Given the description of an element on the screen output the (x, y) to click on. 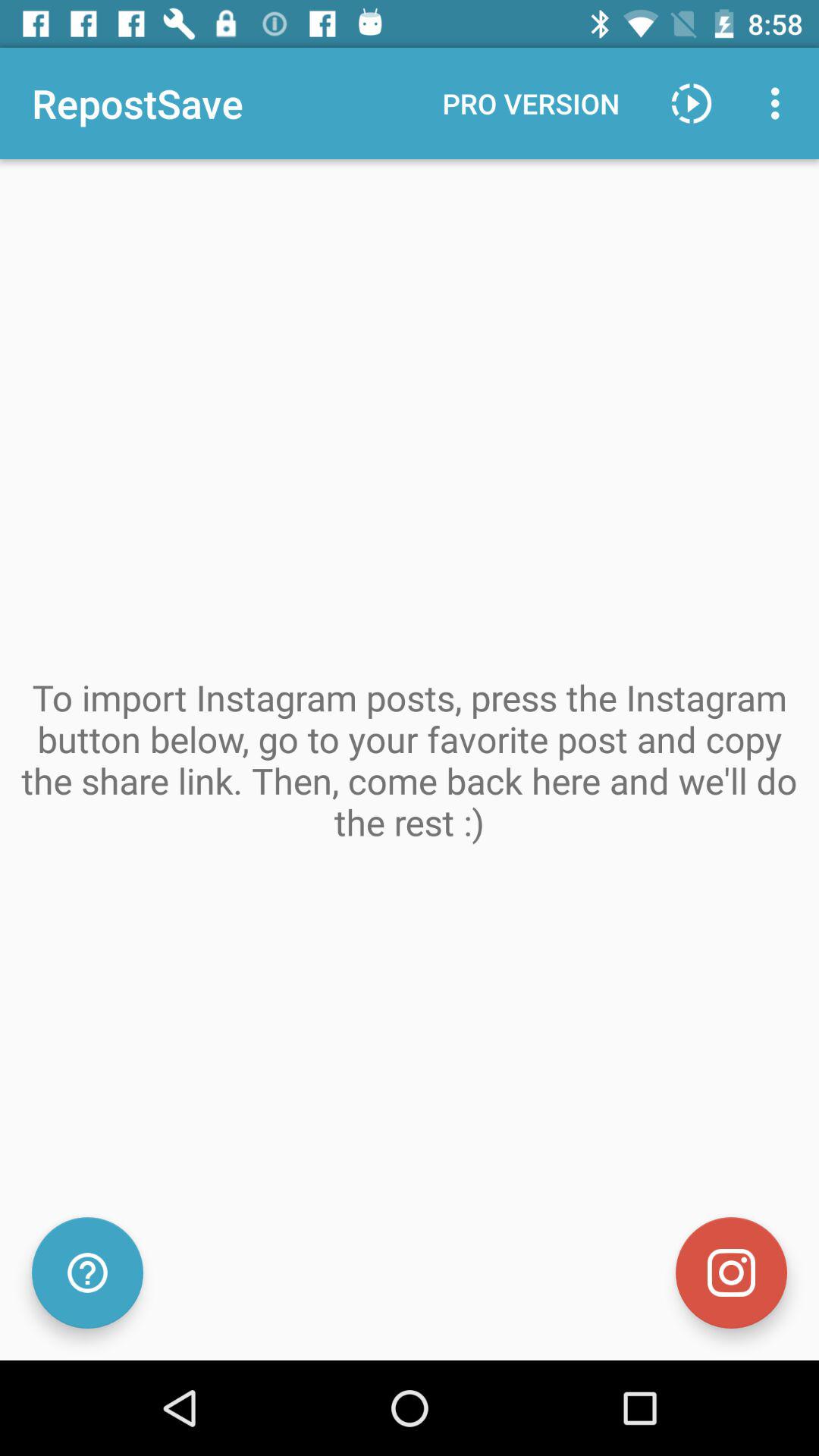
turn off icon to the right of the pro version icon (691, 103)
